Given the description of an element on the screen output the (x, y) to click on. 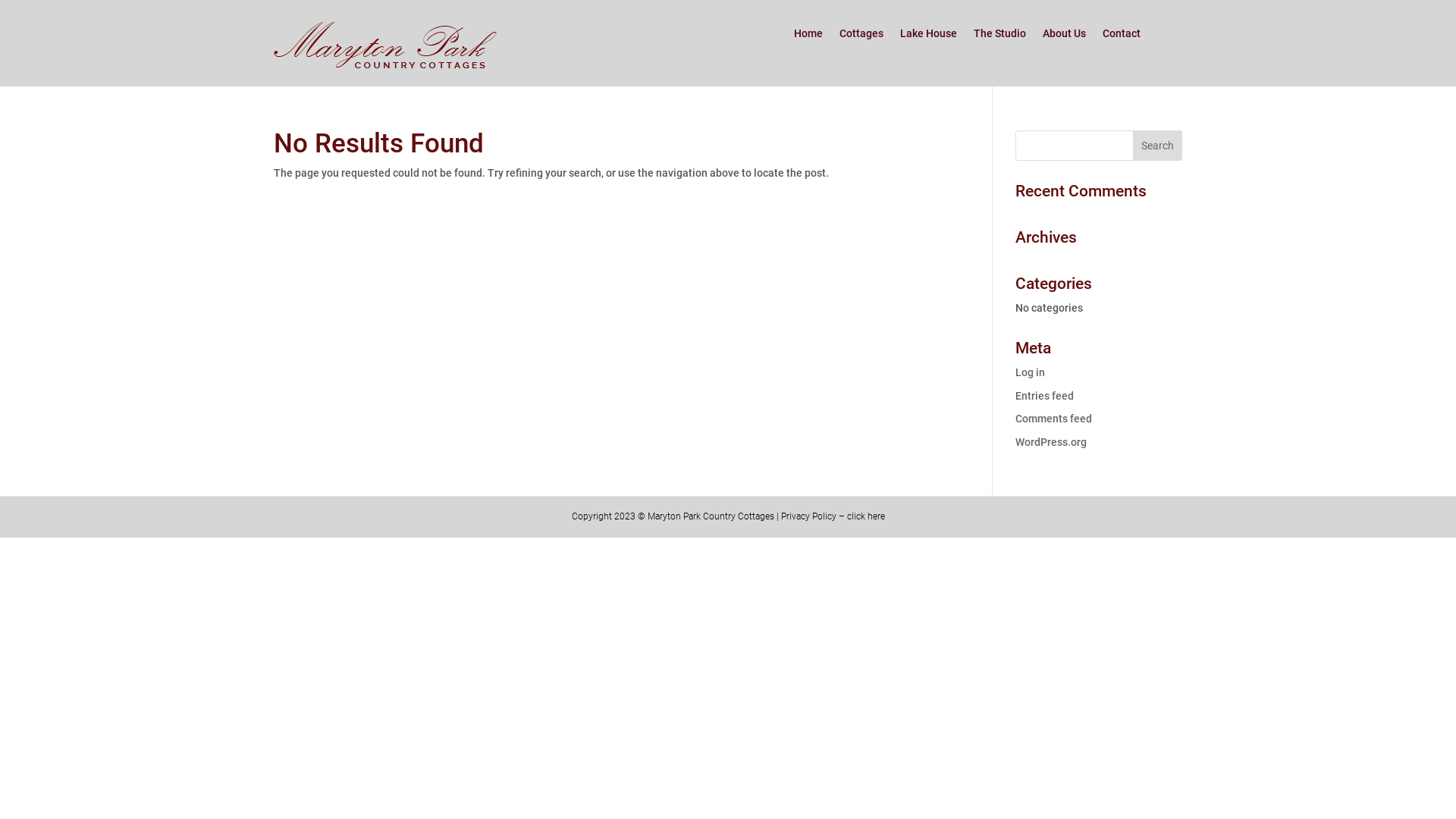
About Us Element type: text (1063, 36)
Contact Element type: text (1121, 36)
Search Element type: text (1157, 145)
Home Element type: text (807, 36)
logo maryton Element type: hover (384, 44)
click here Element type: text (865, 516)
Cottages Element type: text (861, 36)
WordPress.org Element type: text (1050, 442)
The Studio Element type: text (999, 36)
Lake House Element type: text (928, 36)
Log in Element type: text (1029, 372)
Comments feed Element type: text (1053, 418)
Entries feed Element type: text (1044, 395)
